Given the description of an element on the screen output the (x, y) to click on. 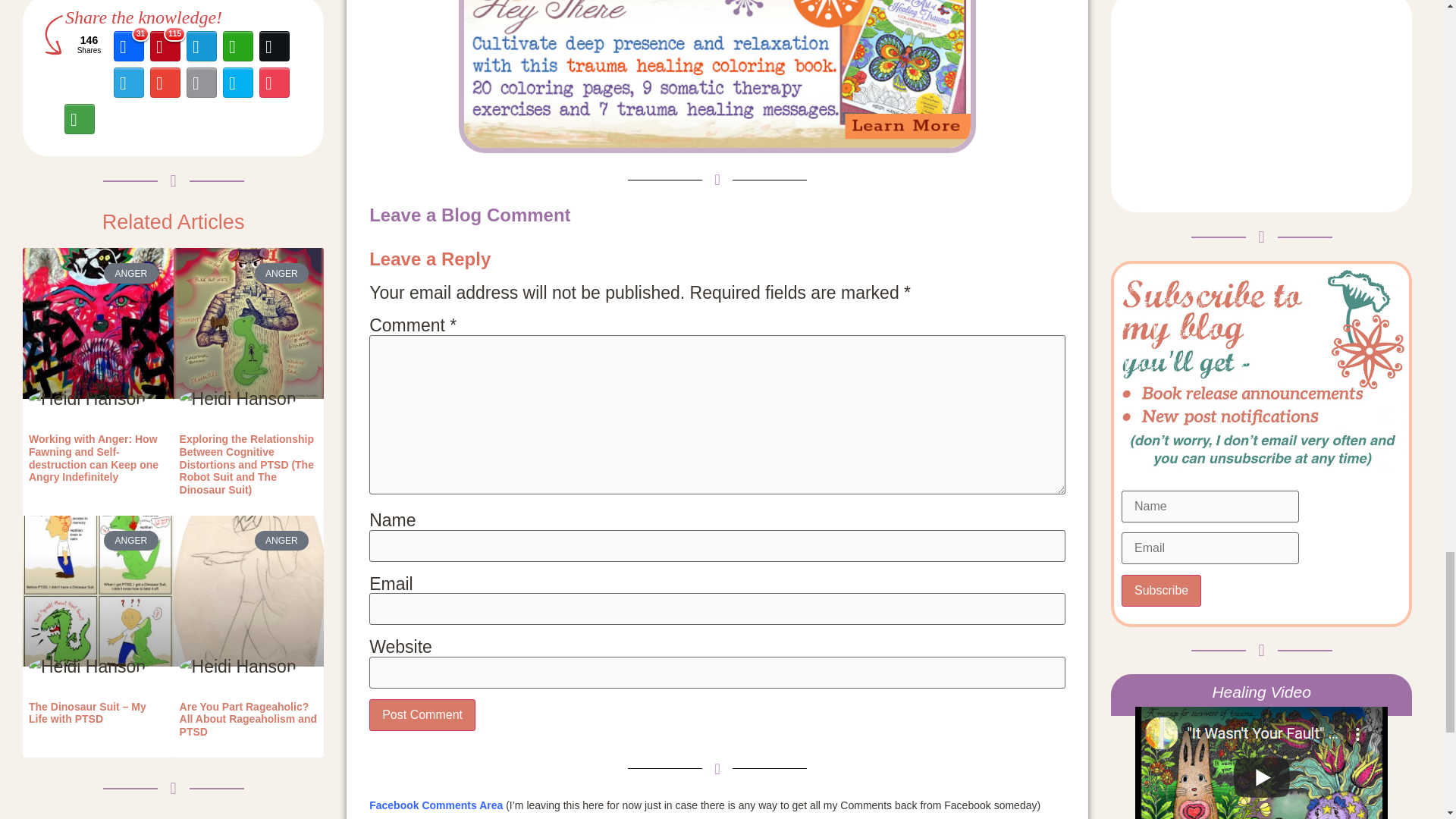
Subscribe (1161, 590)
Post Comment (422, 715)
SMS (201, 45)
Pinterest (165, 45)
WhatsApp (237, 45)
Facebook (128, 45)
